Given the description of an element on the screen output the (x, y) to click on. 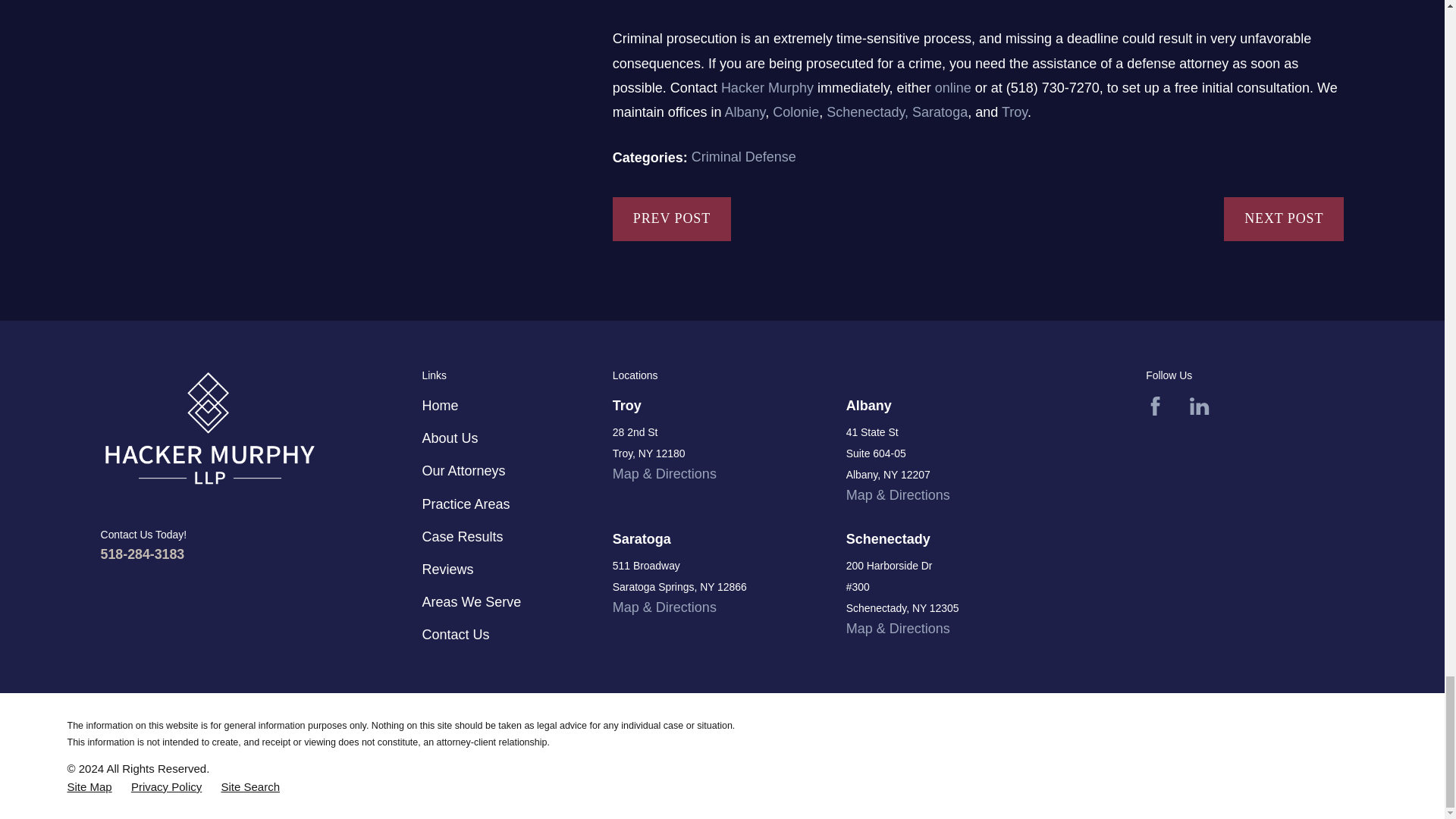
Home (209, 430)
LinkedIn (1198, 405)
Facebook (1154, 405)
